Given the description of an element on the screen output the (x, y) to click on. 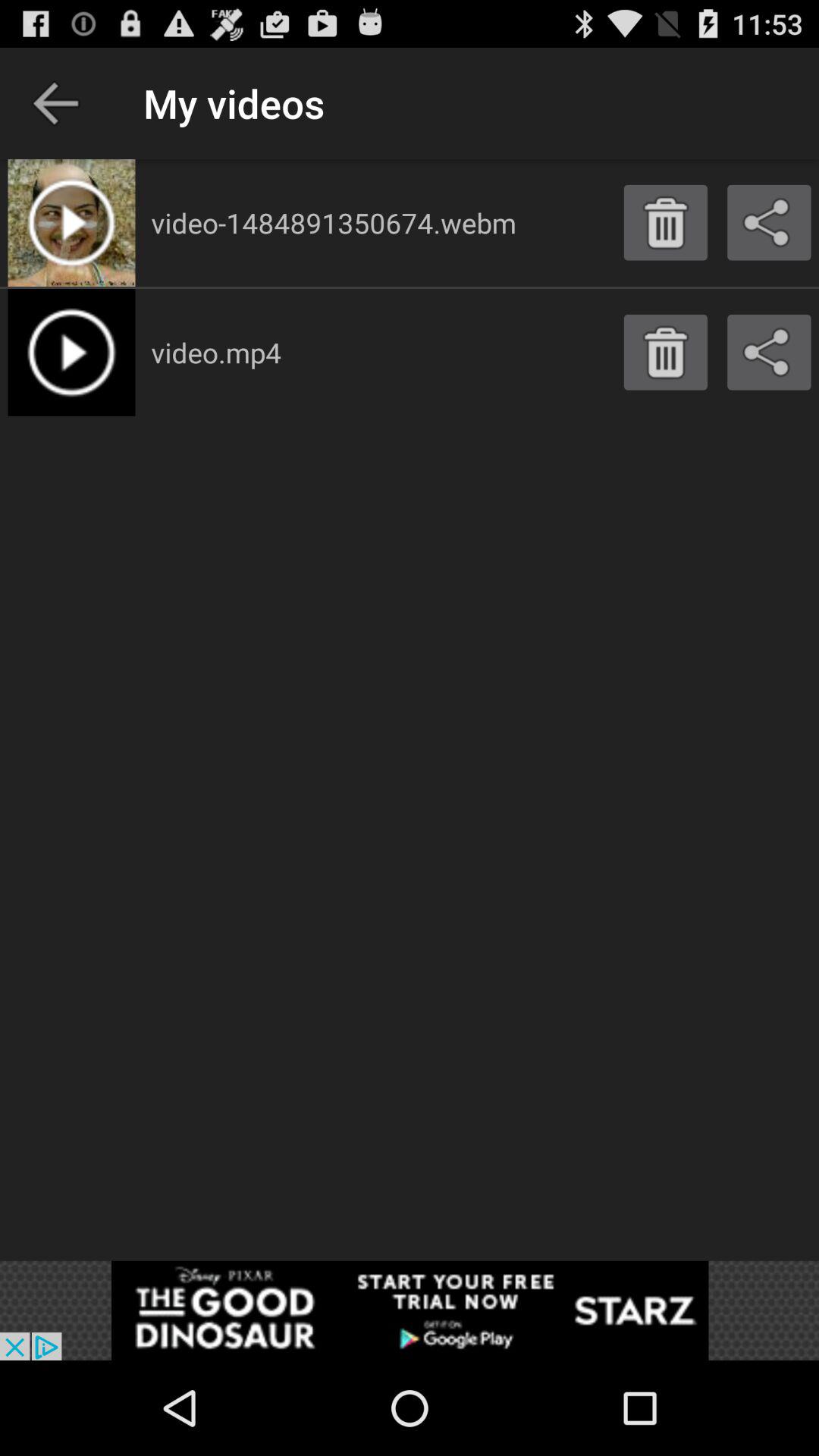
go to advertisement (409, 1310)
